Given the description of an element on the screen output the (x, y) to click on. 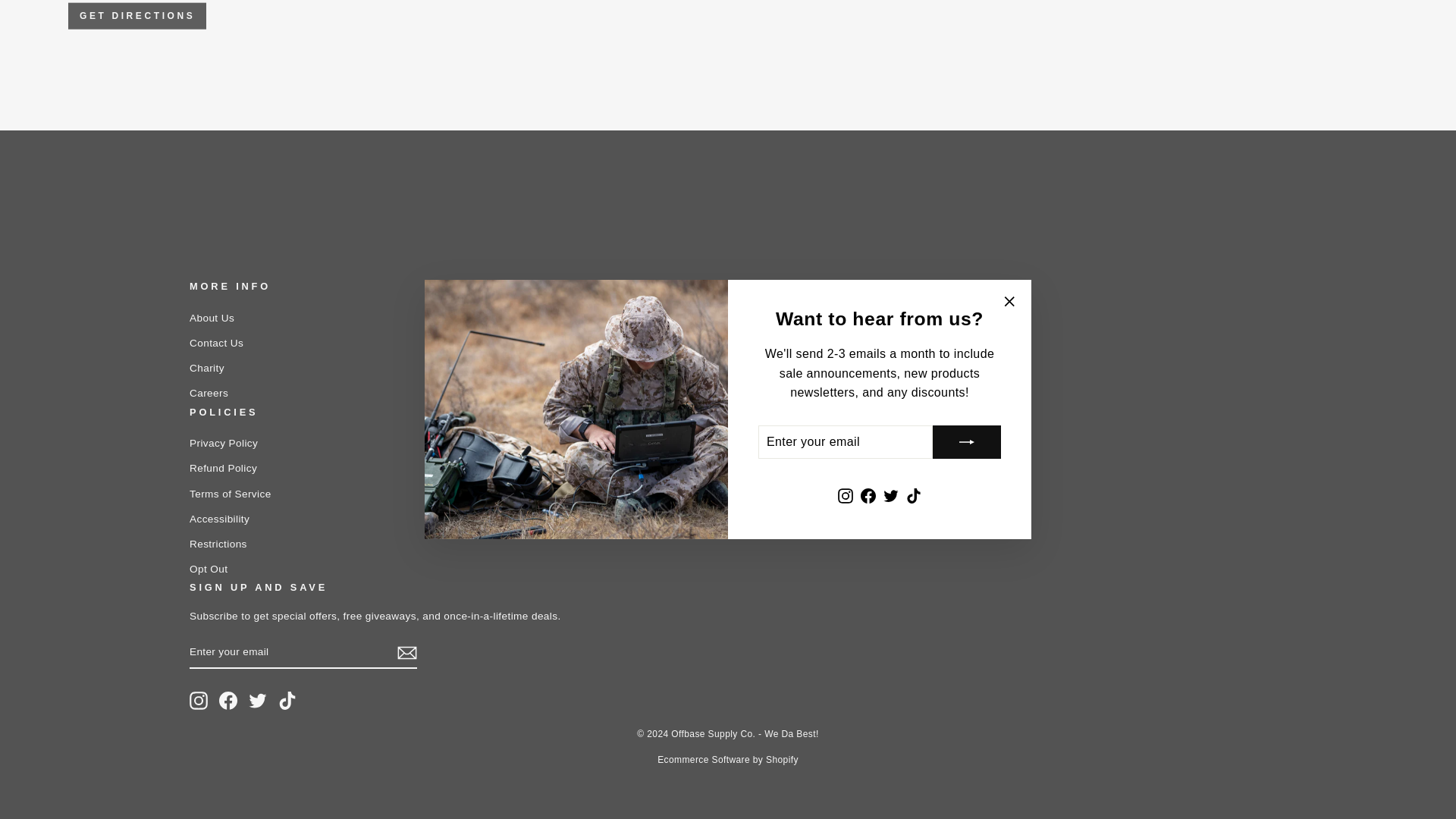
icon-email (406, 652)
Offbase Supply Co. on Instagram (198, 700)
instagram (198, 700)
Offbase Supply Co. on Twitter (257, 700)
